Given the description of an element on the screen output the (x, y) to click on. 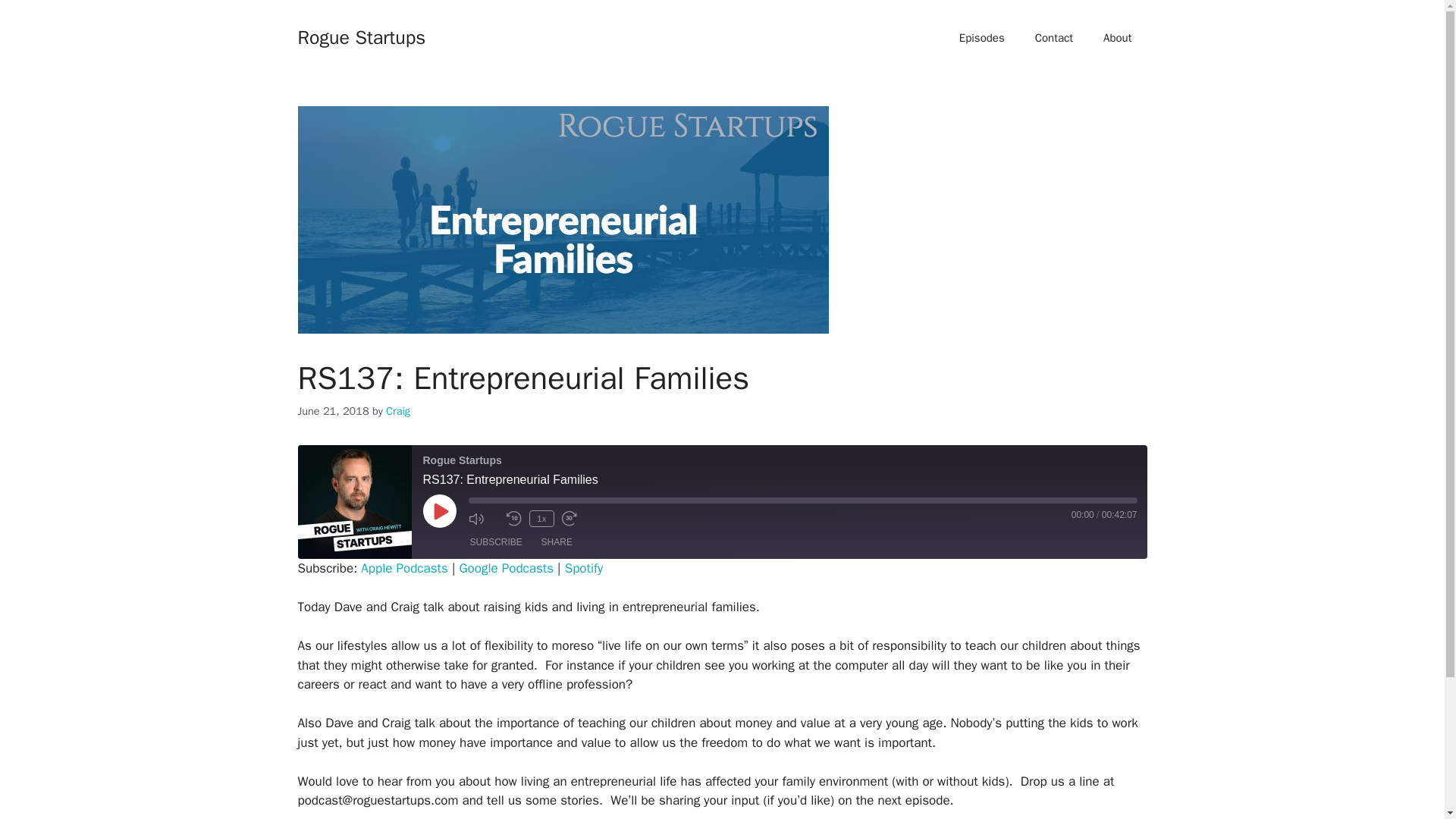
Rewind 10 seconds (513, 518)
Share (556, 542)
Subscribe (496, 542)
Rogue Startups (361, 37)
Play (440, 510)
Craig (397, 410)
Spotify (584, 568)
Fast Forward 30 seconds (575, 518)
SUBSCRIBE (496, 542)
